Given the description of an element on the screen output the (x, y) to click on. 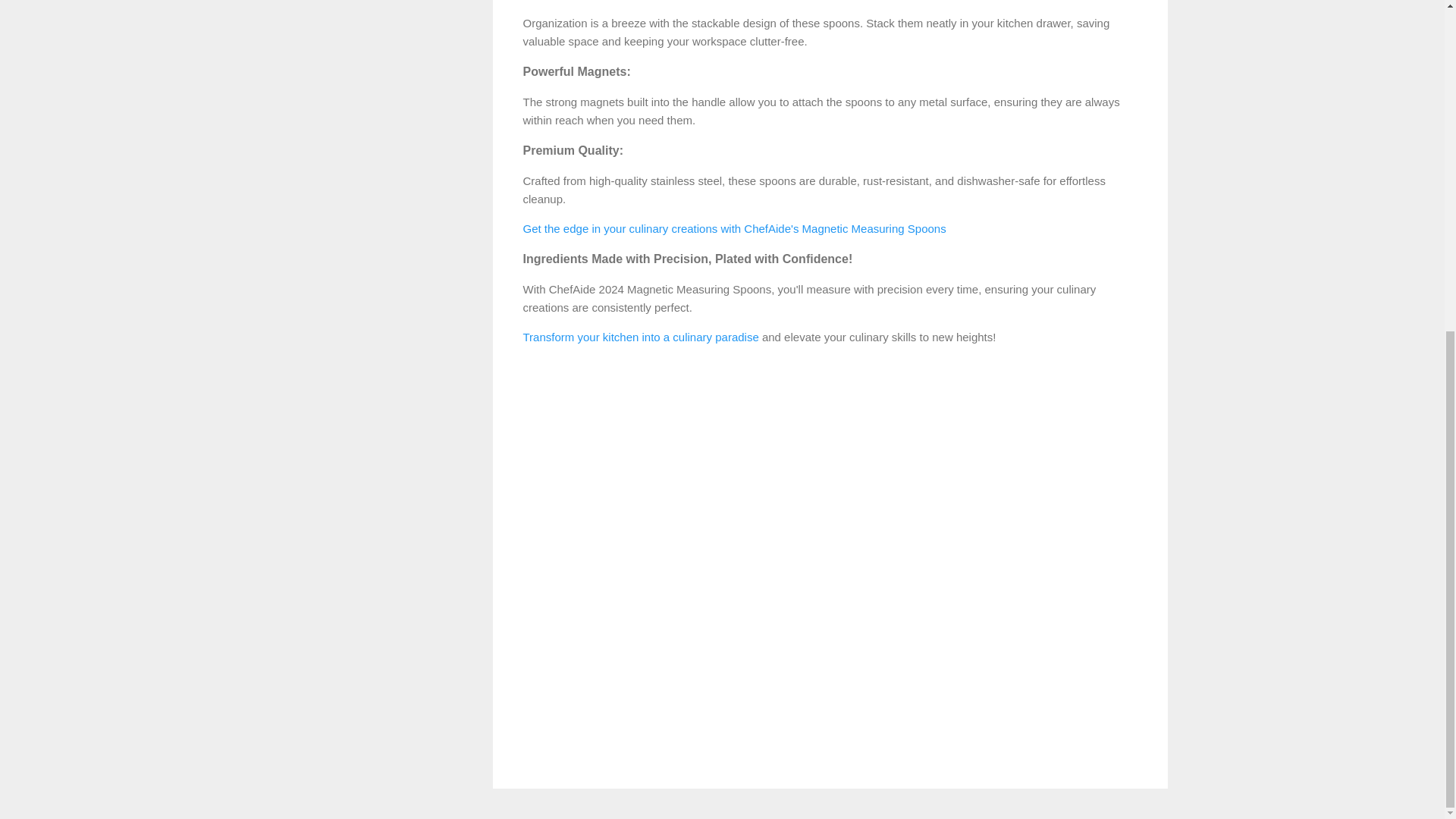
Transform your kitchen into a culinary paradise (640, 336)
